Given the description of an element on the screen output the (x, y) to click on. 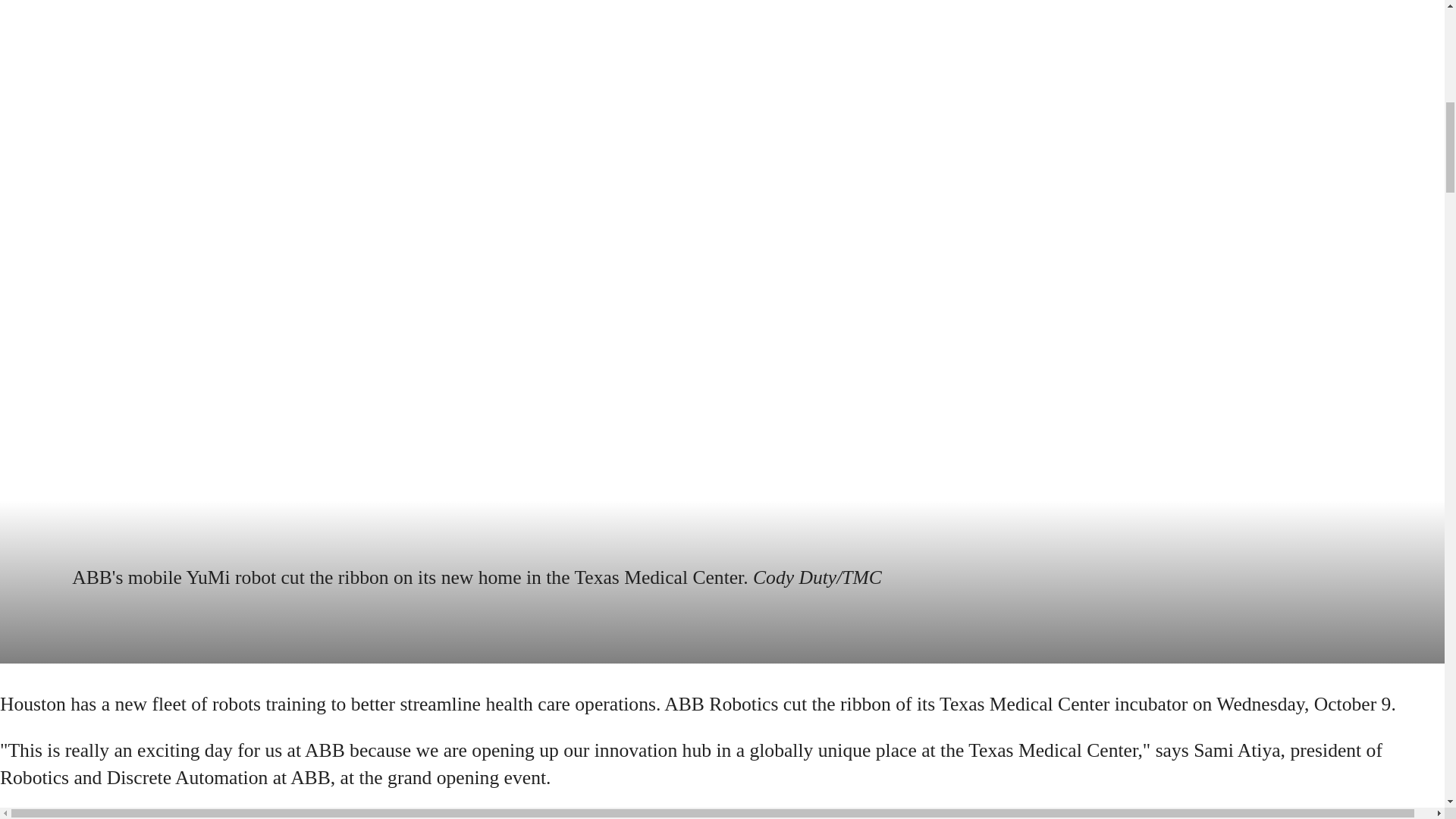
Zurich-based ABB (1067, 814)
